Given the description of an element on the screen output the (x, y) to click on. 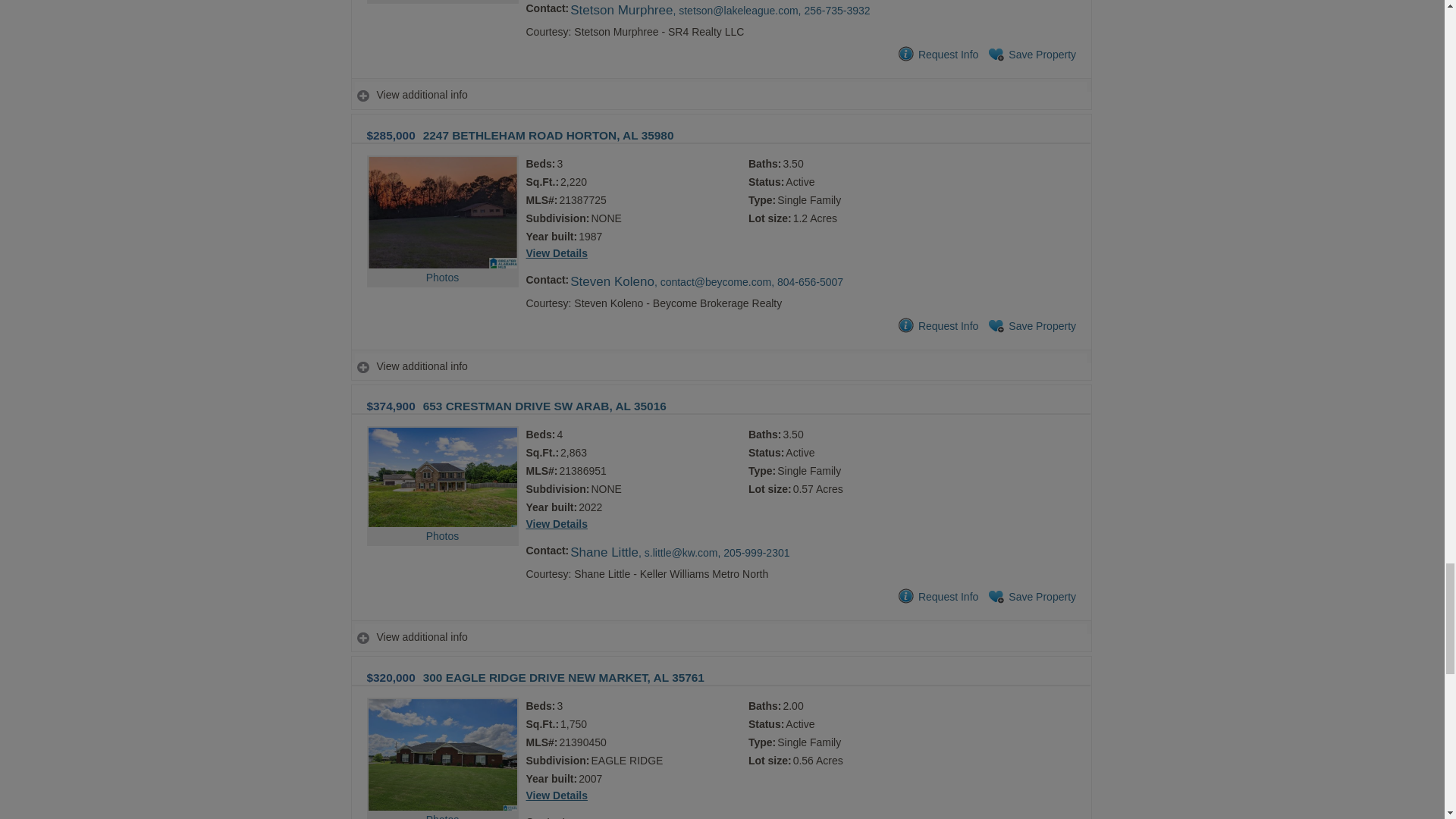
View property remarks and map (720, 636)
View property remarks and map (720, 366)
View property remarks and map (720, 94)
